Given the description of an element on the screen output the (x, y) to click on. 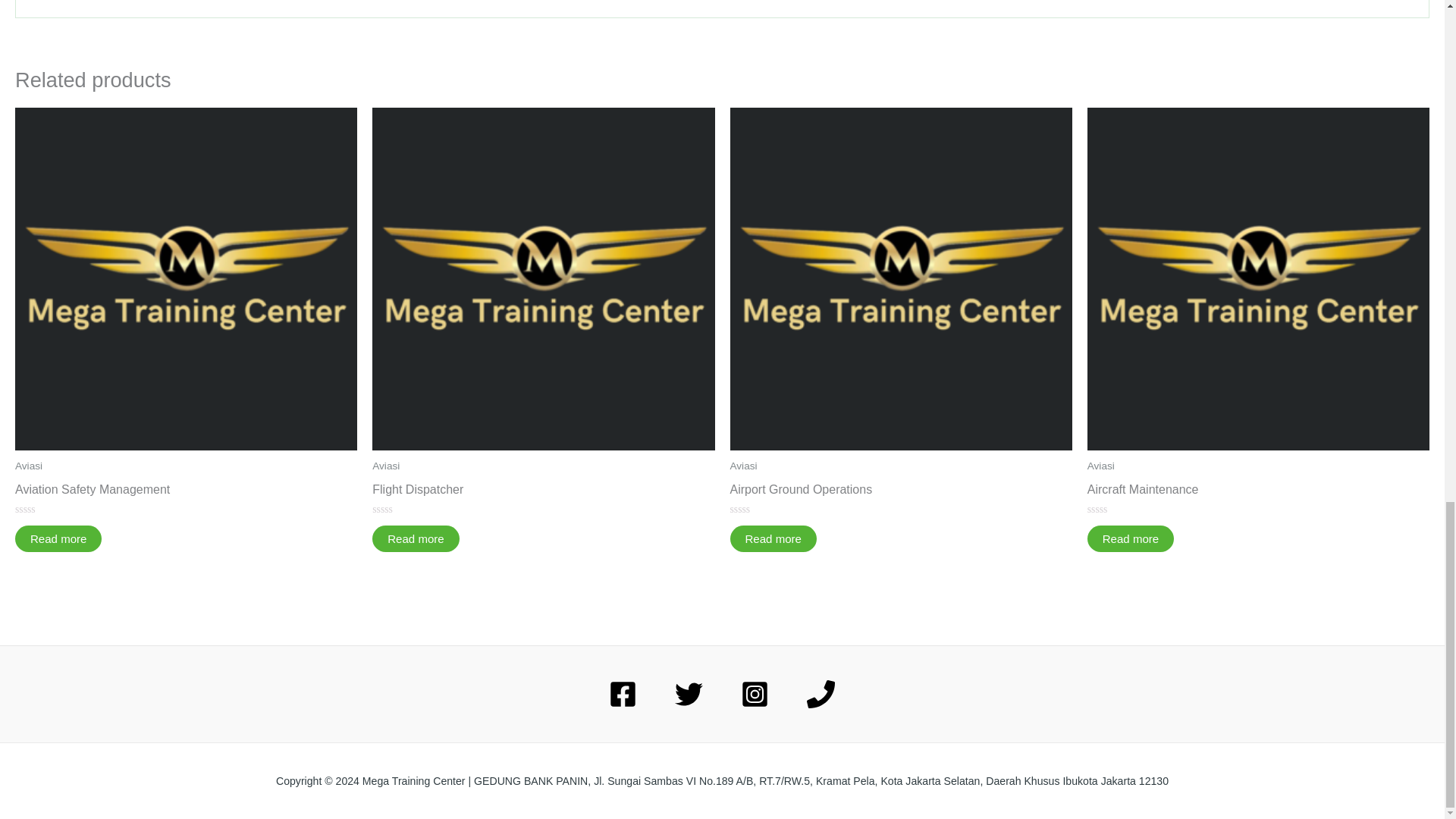
Read more (415, 538)
Aviation Safety Management (185, 493)
Flight Dispatcher (543, 493)
Read more (57, 538)
